Given the description of an element on the screen output the (x, y) to click on. 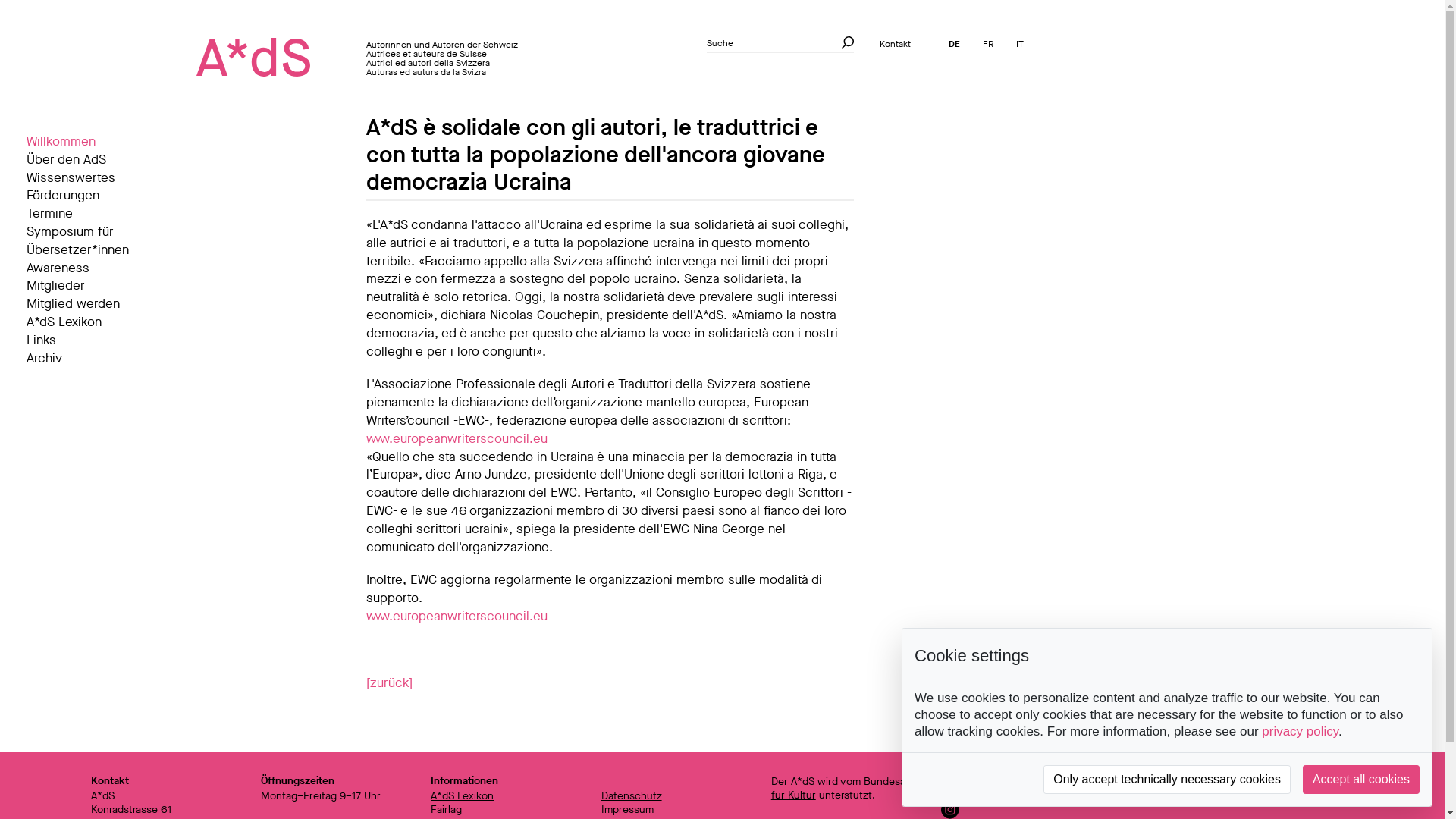
Only accept technically necessary cookies Element type: text (1166, 779)
www.europeanwriterscouncil.eu Element type: text (456, 615)
Suche Element type: text (844, 42)
Willkommen Element type: text (99, 141)
www.europeanwriterscouncil.eu Element type: text (456, 438)
privacy policy Element type: text (1299, 731)
A*dS Lexikon Element type: text (99, 322)
Links Element type: text (99, 340)
Datenschutz Element type: text (631, 795)
Mitglieder Element type: text (99, 285)
DE Element type: text (954, 43)
Wissenswertes Element type: text (99, 178)
Impressum Element type: text (627, 809)
Mitglied werden Element type: text (99, 303)
Kontakt Element type: text (894, 43)
Accept all cookies Element type: text (1360, 779)
Termine Element type: text (99, 213)
Fairlag Element type: text (445, 809)
Awareness Element type: text (99, 268)
IT Element type: text (1019, 43)
Archiv Element type: text (99, 358)
FR Element type: text (987, 43)
A*dS Lexikon Element type: text (461, 795)
